Given the description of an element on the screen output the (x, y) to click on. 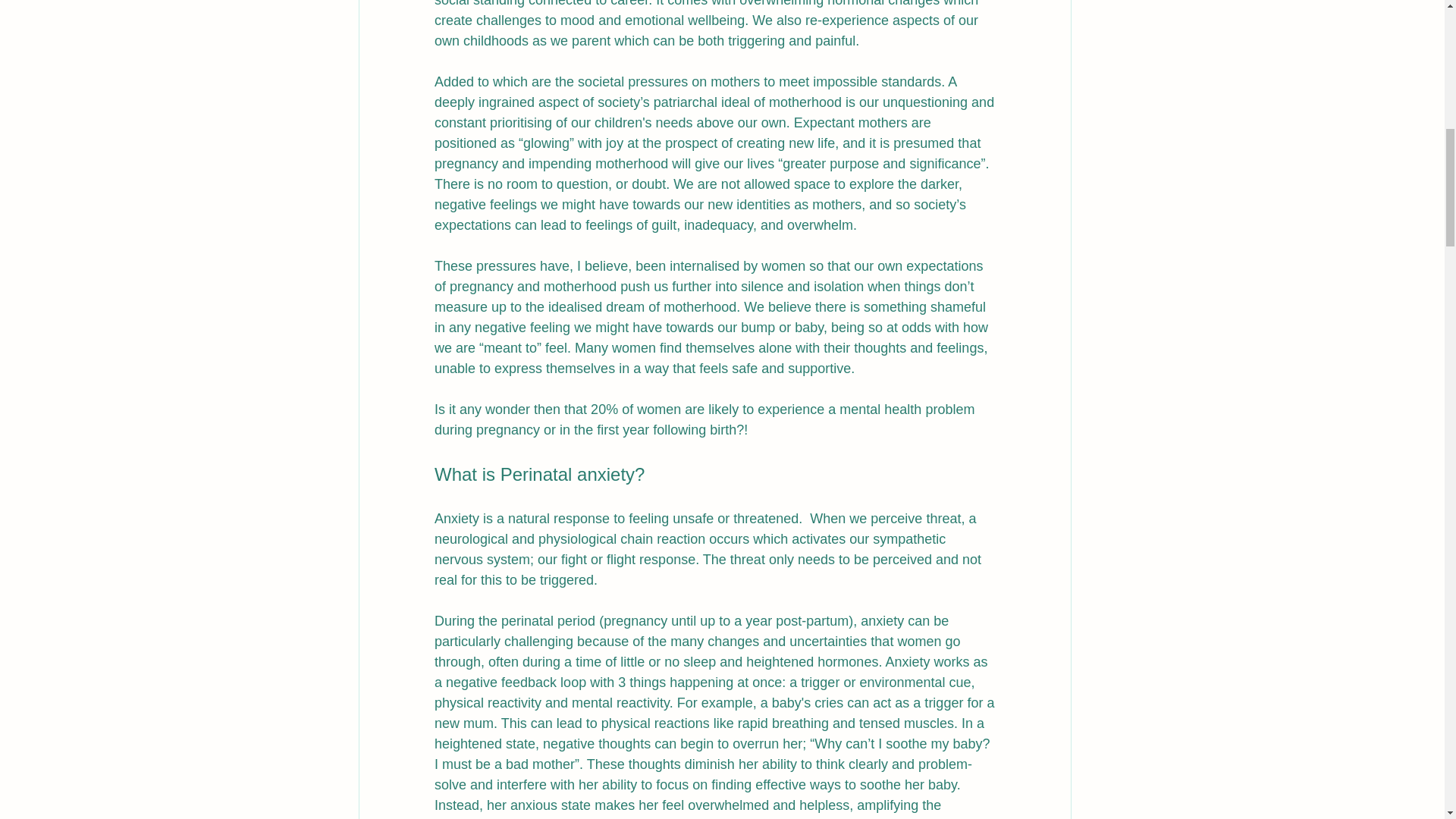
greater purpose and significance (881, 163)
experience a mental health problem  (867, 409)
